Given the description of an element on the screen output the (x, y) to click on. 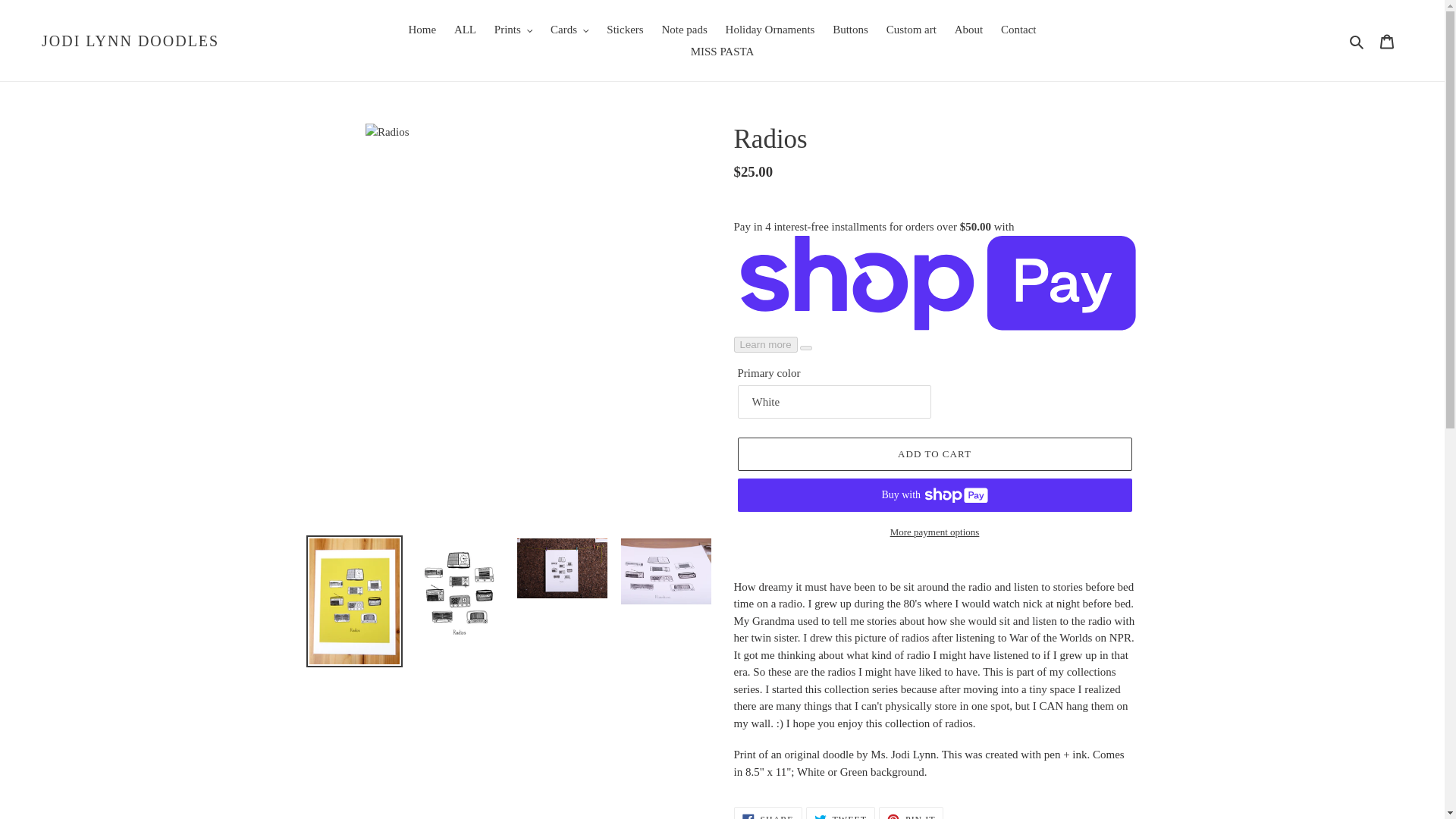
Stickers (624, 29)
Custom art (911, 29)
Note pads (683, 29)
JODI LYNN DOODLES (130, 40)
Buttons (850, 29)
Home (422, 29)
Holiday Ornaments (769, 29)
ALL (464, 29)
Prints (513, 29)
Cards (569, 29)
